Given the description of an element on the screen output the (x, y) to click on. 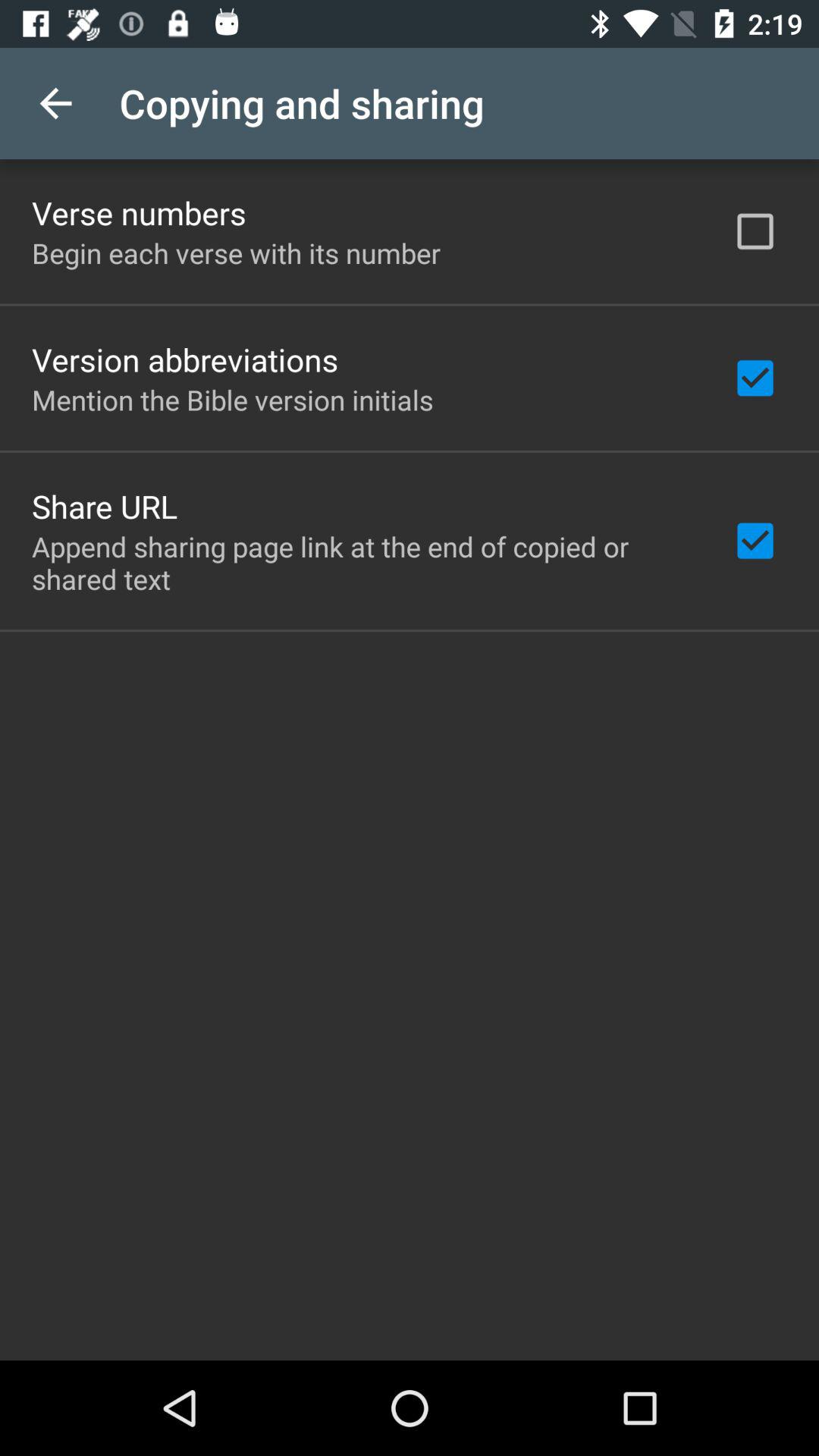
launch icon below begin each verse icon (184, 359)
